Given the description of an element on the screen output the (x, y) to click on. 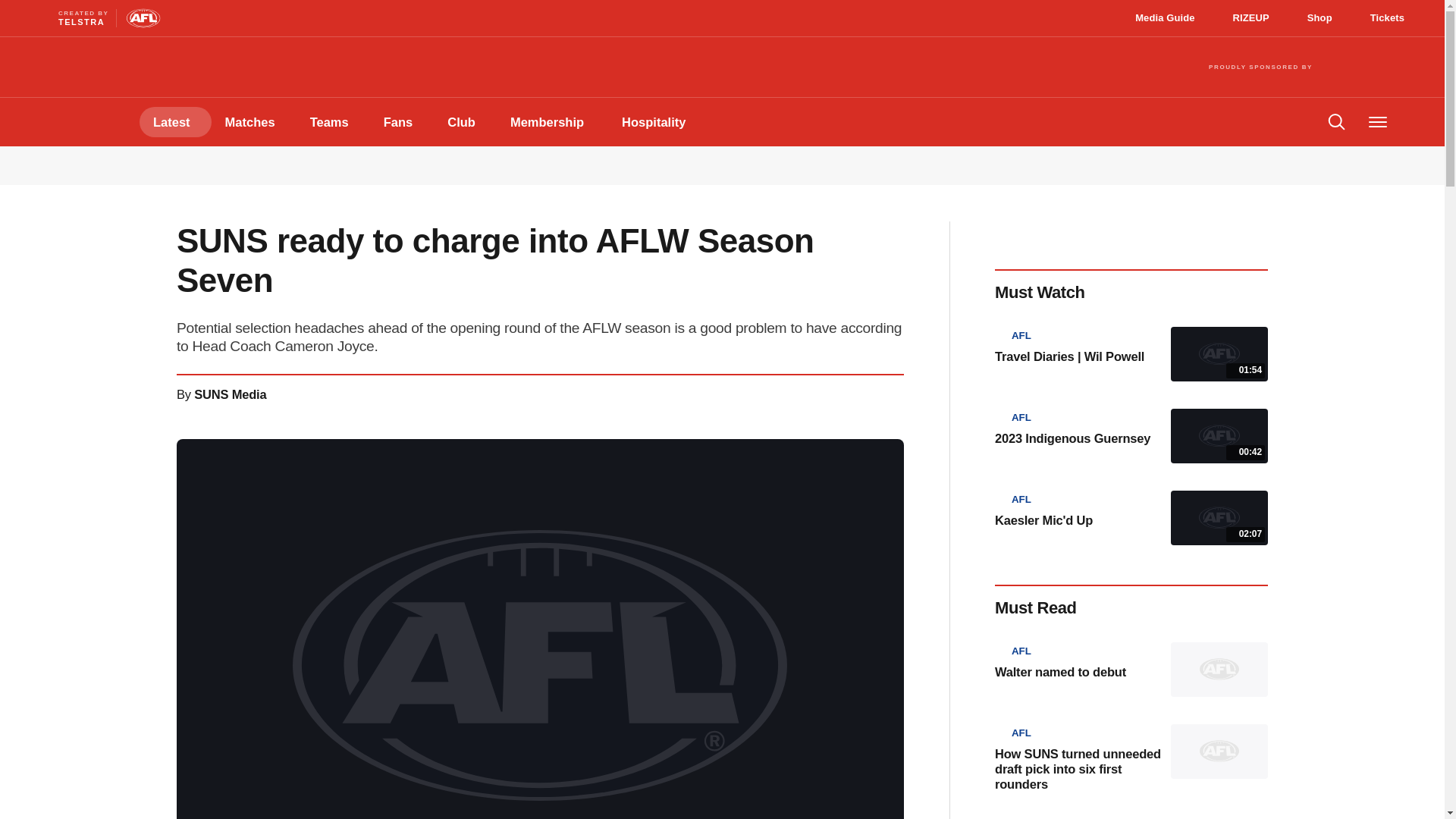
Tickets (1390, 17)
RIZEUP (1257, 17)
Shop (65, 18)
Club (1325, 17)
Fans (464, 122)
Media Guide (401, 122)
Shop (1169, 17)
Media Guide (1325, 17)
Club Logo (1169, 17)
Matches (57, 121)
RIZEUP (254, 122)
Latest (1257, 17)
Teams (175, 122)
